Given the description of an element on the screen output the (x, y) to click on. 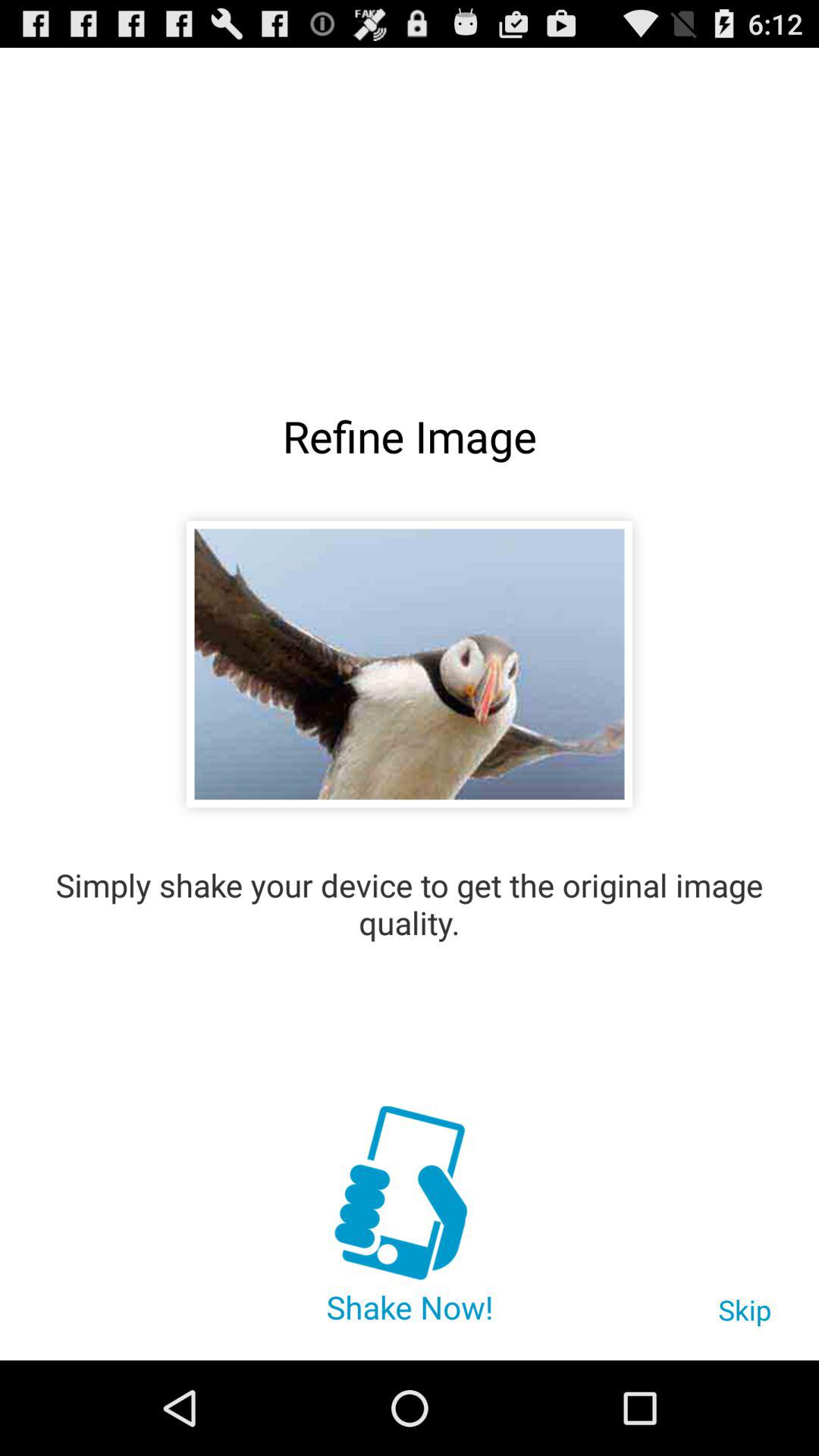
jump to the skip button (744, 1317)
